Given the description of an element on the screen output the (x, y) to click on. 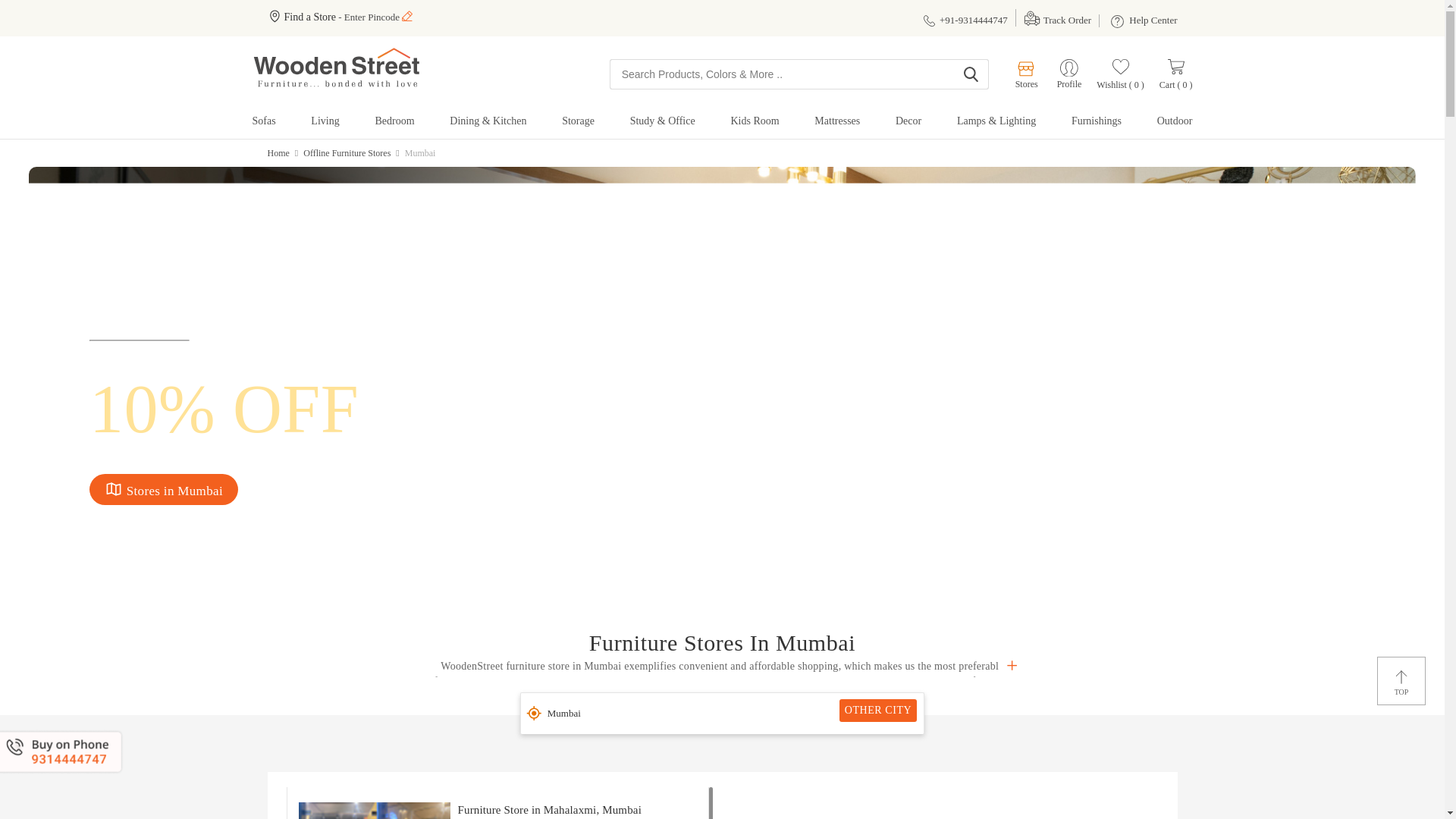
Living (325, 124)
Bedroom (393, 124)
Mumbai (721, 712)
Profile (1069, 83)
Cart (1175, 74)
Stores (1019, 74)
Store Video (945, 805)
Kids Room (754, 124)
Furniture Store in Mahalaxmi Mumbai (373, 810)
Storage (578, 124)
